Given the description of an element on the screen output the (x, y) to click on. 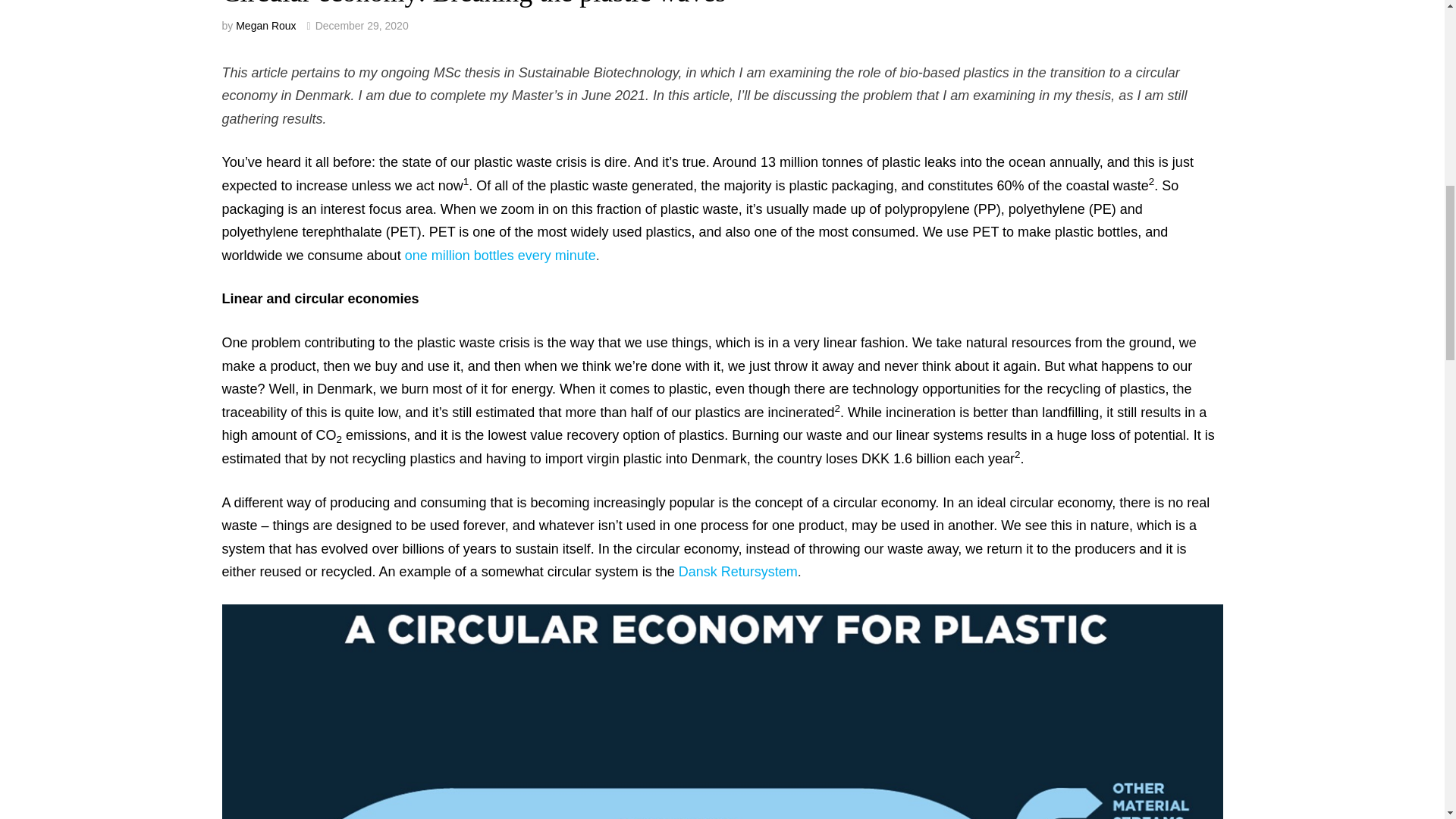
Dansk Retursystem (737, 571)
Megan Roux (265, 25)
one million bottles every minute (499, 255)
December 29, 2020 (362, 25)
